Given the description of an element on the screen output the (x, y) to click on. 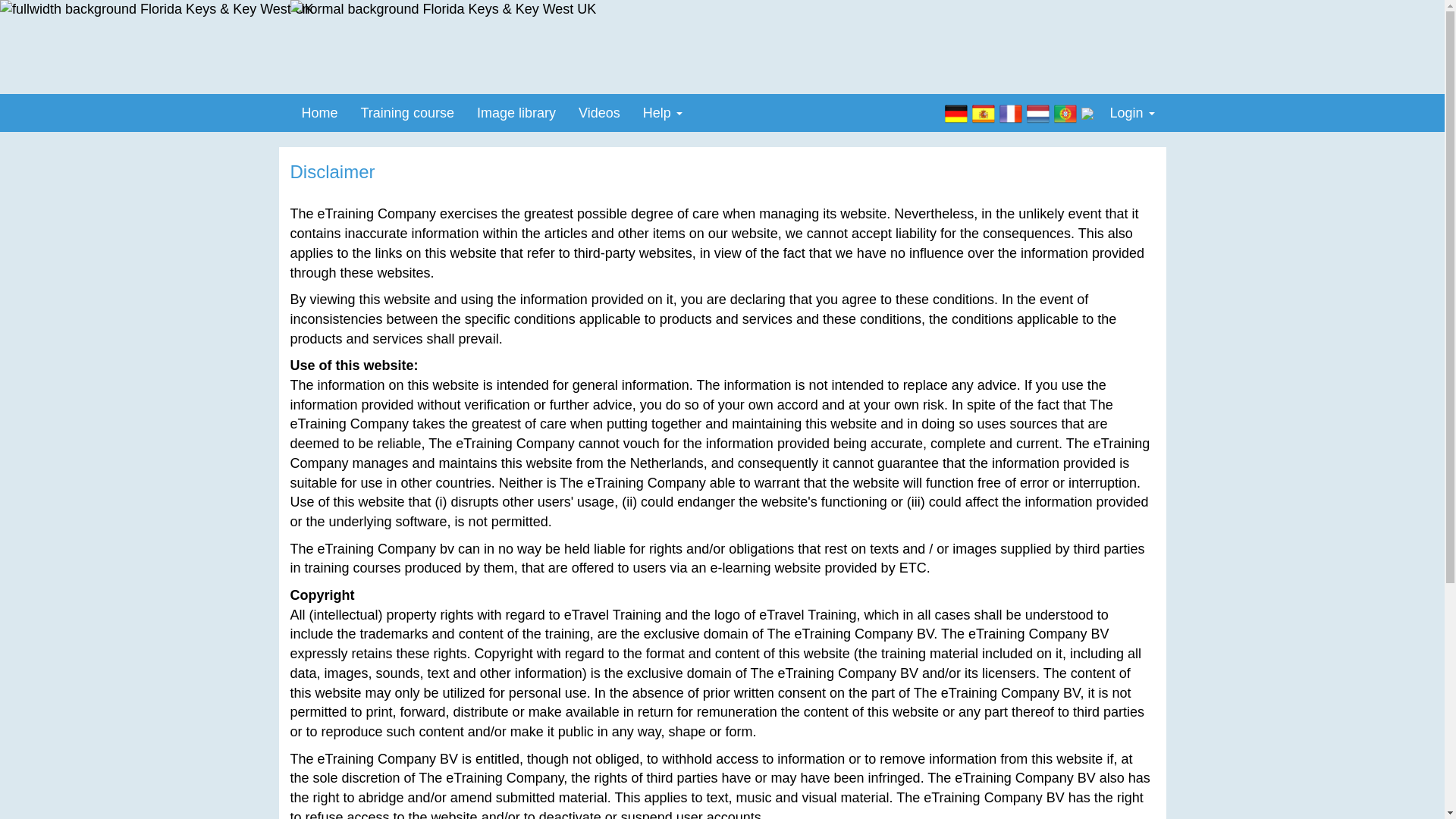
Image library (516, 112)
Videos (599, 112)
Home (319, 112)
Login (1131, 112)
Help  (662, 112)
Training course (407, 112)
